Given the description of an element on the screen output the (x, y) to click on. 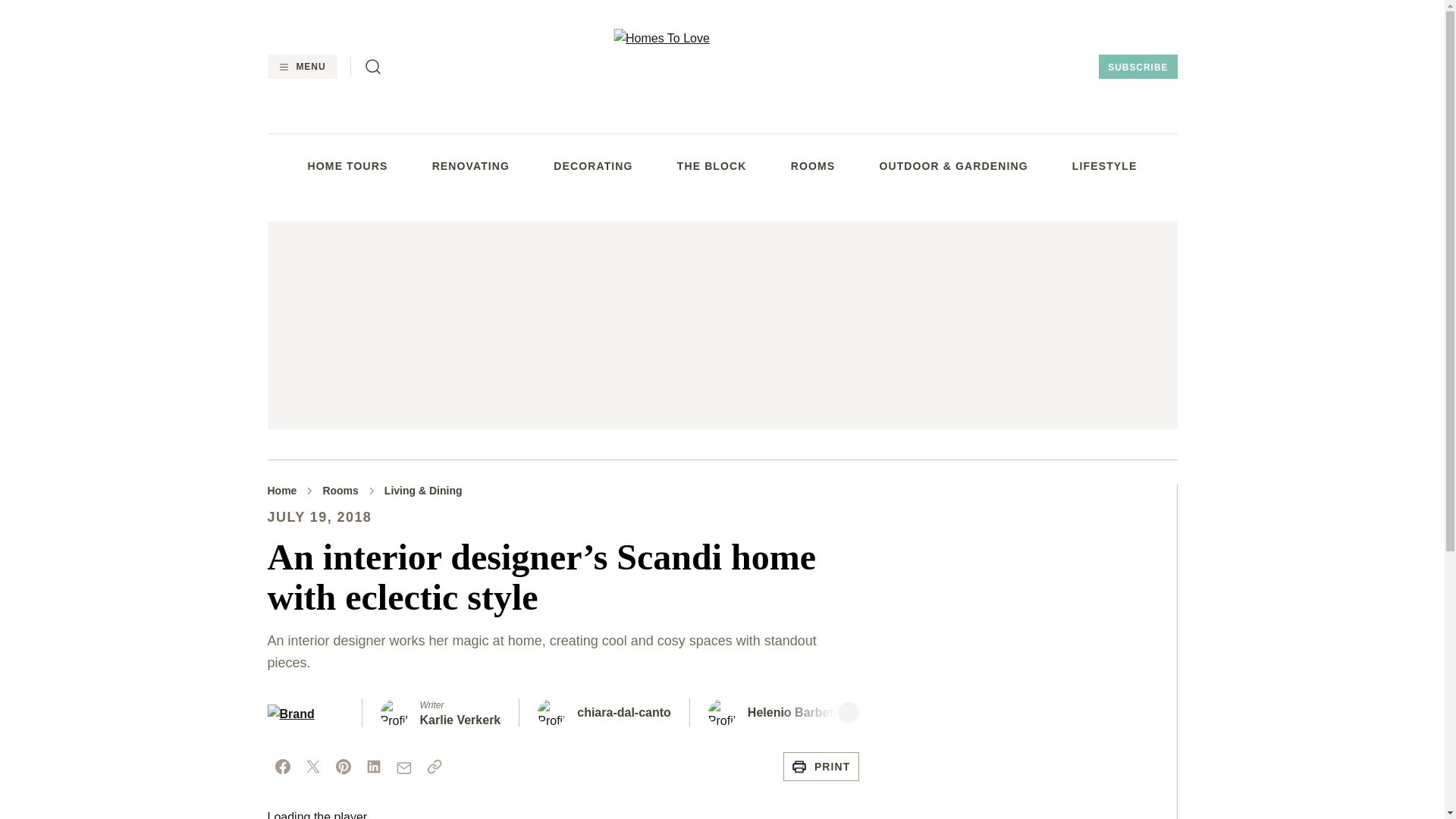
RENOVATING (470, 165)
DECORATING (592, 165)
LIFESTYLE (1104, 165)
HOME TOURS (347, 165)
SUBSCRIBE (1137, 66)
THE BLOCK (711, 165)
MENU (301, 66)
ROOMS (812, 165)
